Given the description of an element on the screen output the (x, y) to click on. 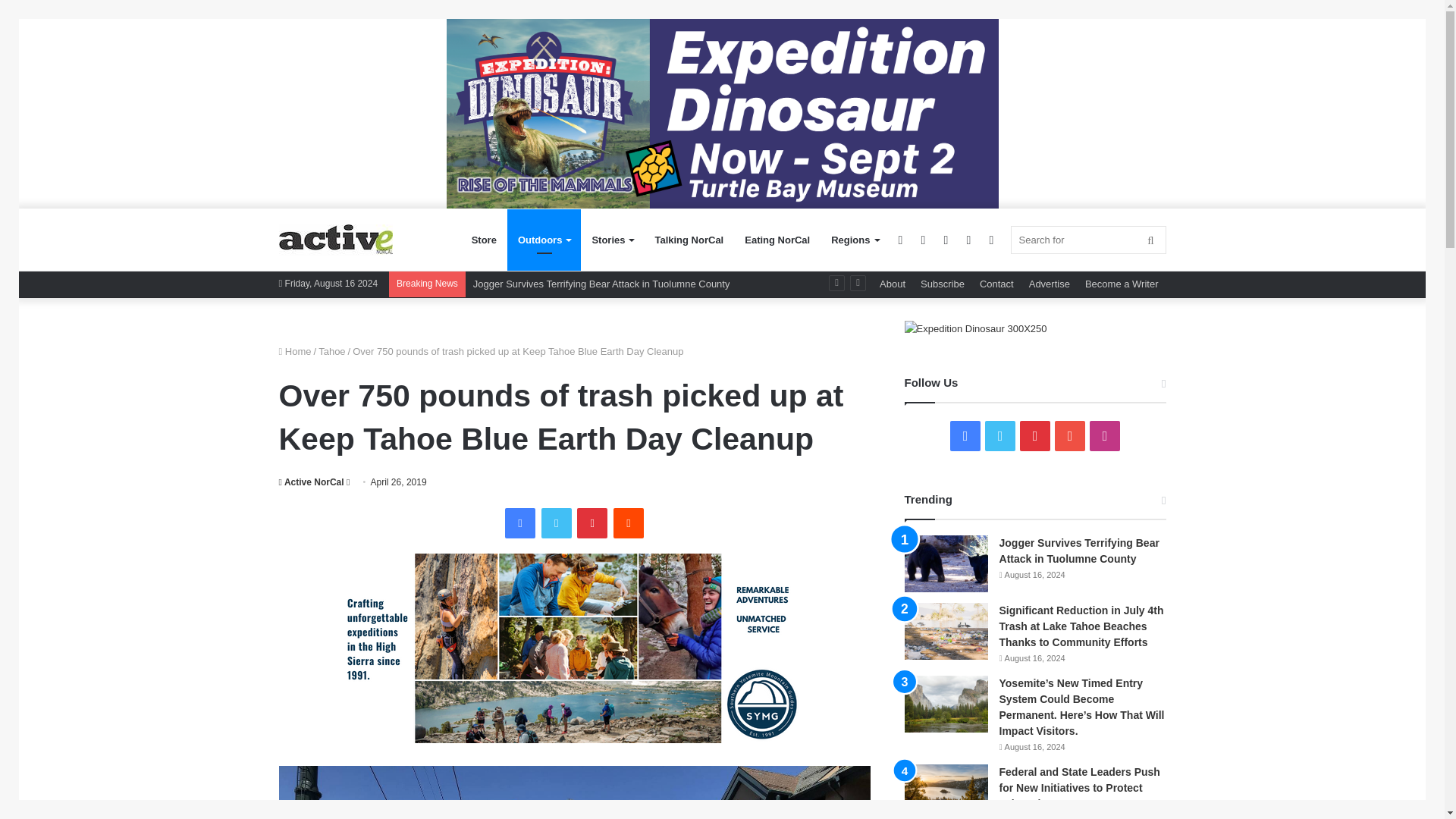
Twitter (556, 522)
About (892, 284)
Active NorCal (311, 481)
Reddit (627, 522)
Stories (611, 240)
Jogger Survives Terrifying Bear Attack in Tuolumne County (601, 283)
Regions (854, 240)
Search for (1088, 239)
Pinterest (591, 522)
SYMG 600X250 (574, 647)
